Given the description of an element on the screen output the (x, y) to click on. 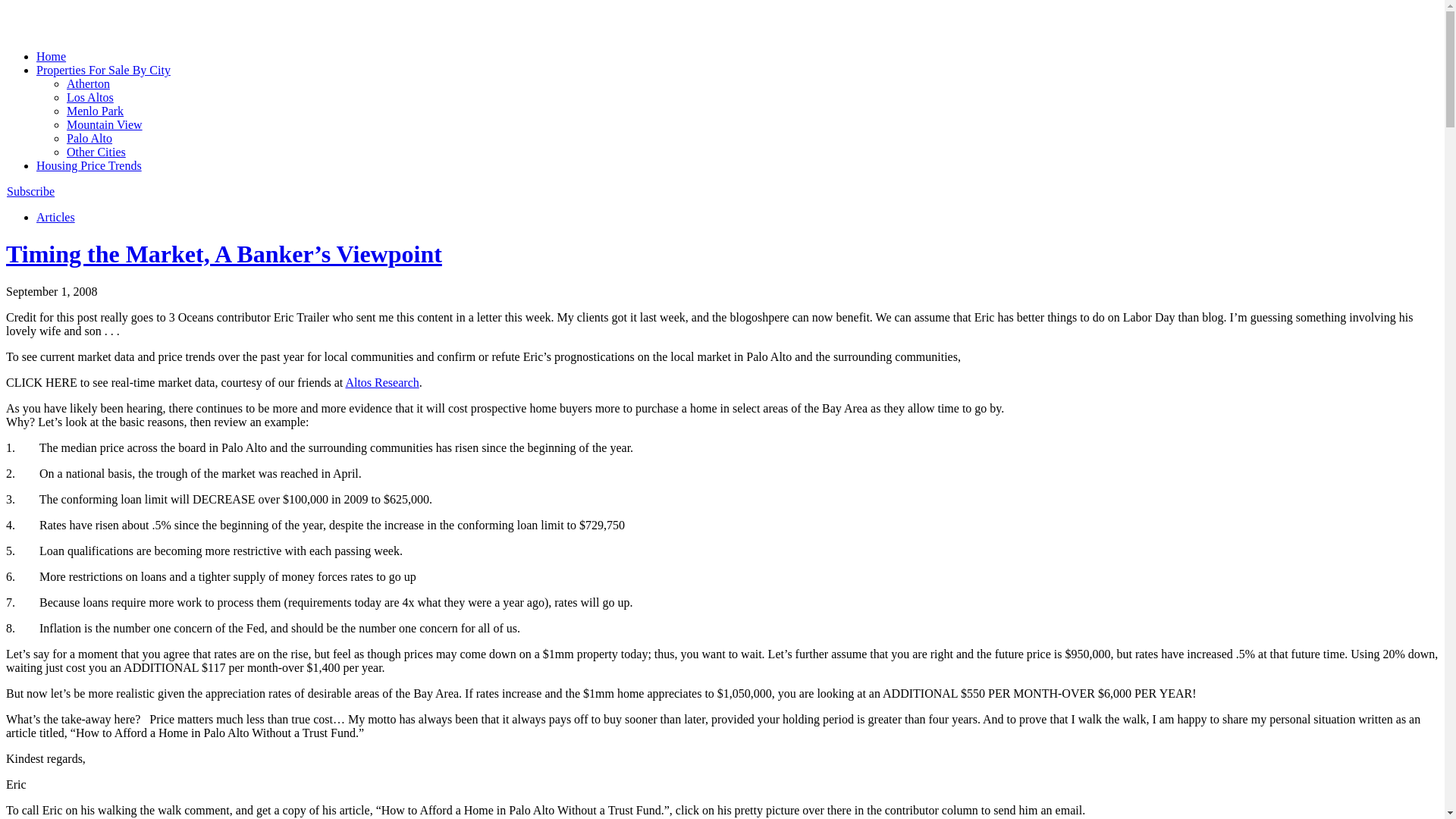
Subscribe Element type: text (30, 191)
Palo Alto Element type: text (89, 137)
Home Element type: text (50, 56)
Menlo Park Element type: text (94, 110)
Properties For Sale By City Element type: text (103, 69)
Los Altos Element type: text (89, 97)
Housing Price Trends Element type: text (88, 165)
Altos Research Element type: text (381, 382)
Articles Element type: text (55, 216)
Other Cities Element type: text (95, 151)
Mountain View Element type: text (104, 124)
Atherton Element type: text (87, 83)
